Given the description of an element on the screen output the (x, y) to click on. 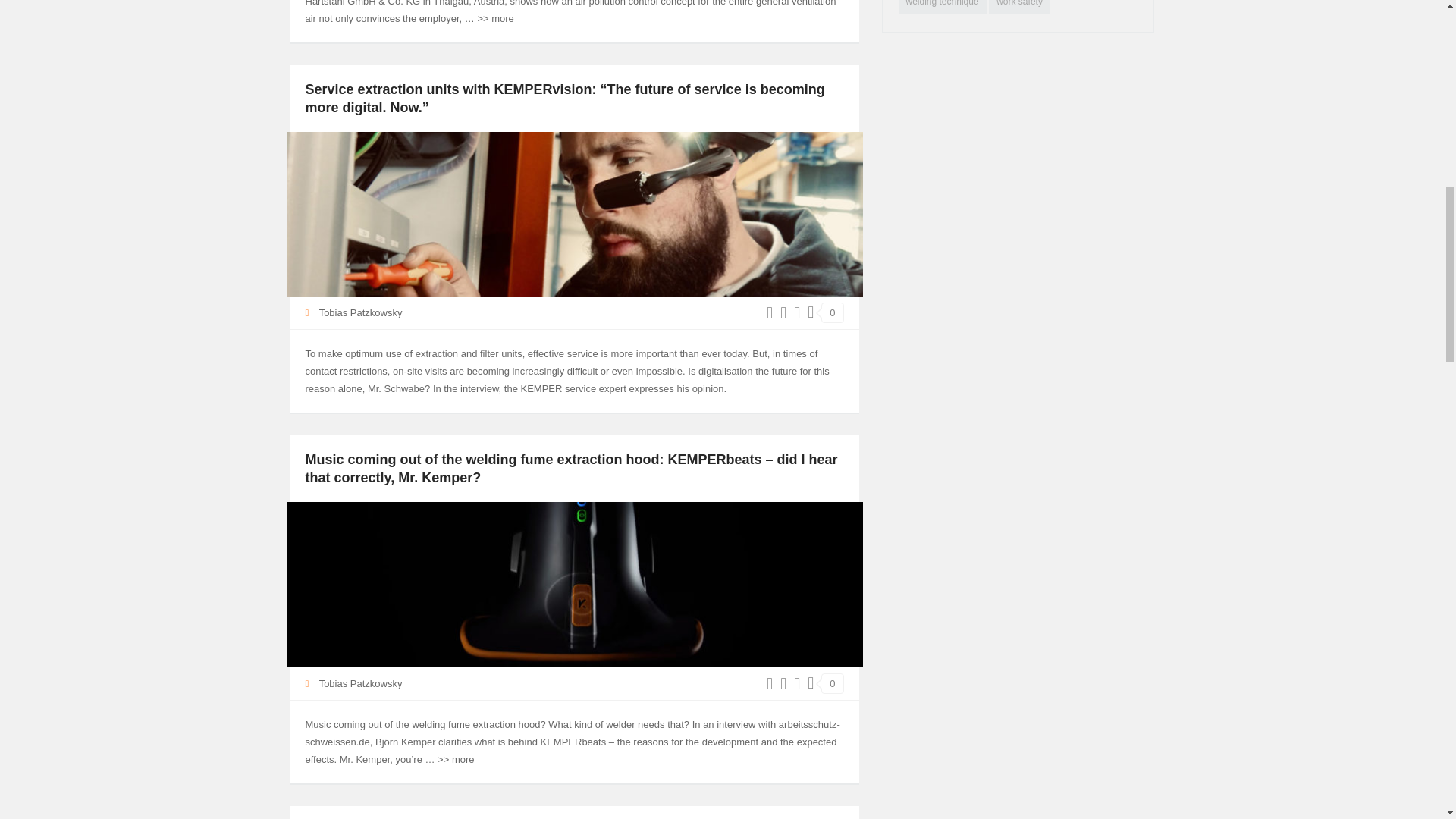
Comment this post (832, 312)
View all posts by Tobias Patzkowsky (360, 683)
Comment this post (832, 683)
View all posts by Tobias Patzkowsky (360, 312)
